Given the description of an element on the screen output the (x, y) to click on. 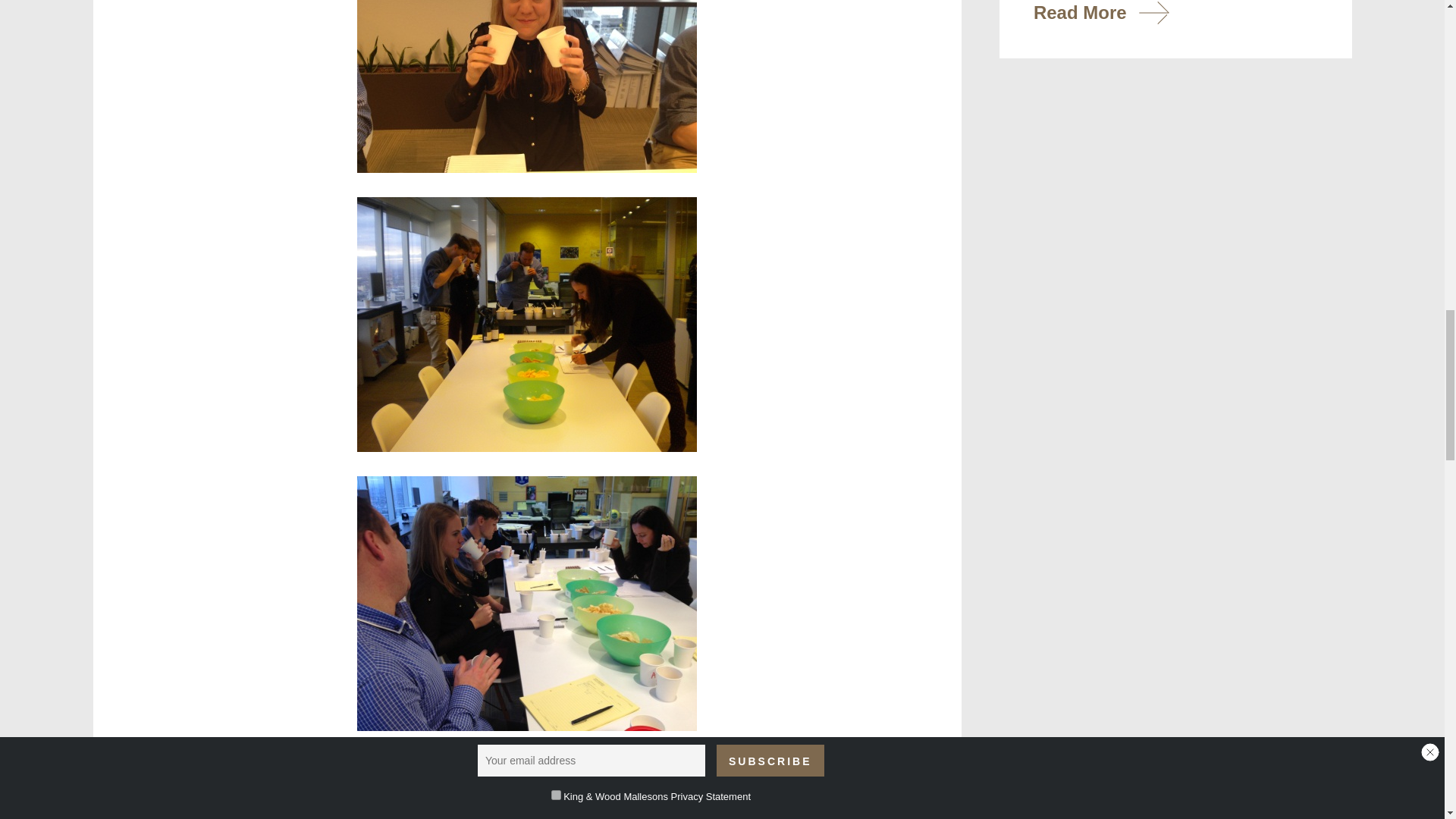
IPW Aldi5 (526, 787)
IPW Aldi4 (526, 324)
IPW Aldi2 (526, 86)
IPW Aldi3 (526, 603)
